Given the description of an element on the screen output the (x, y) to click on. 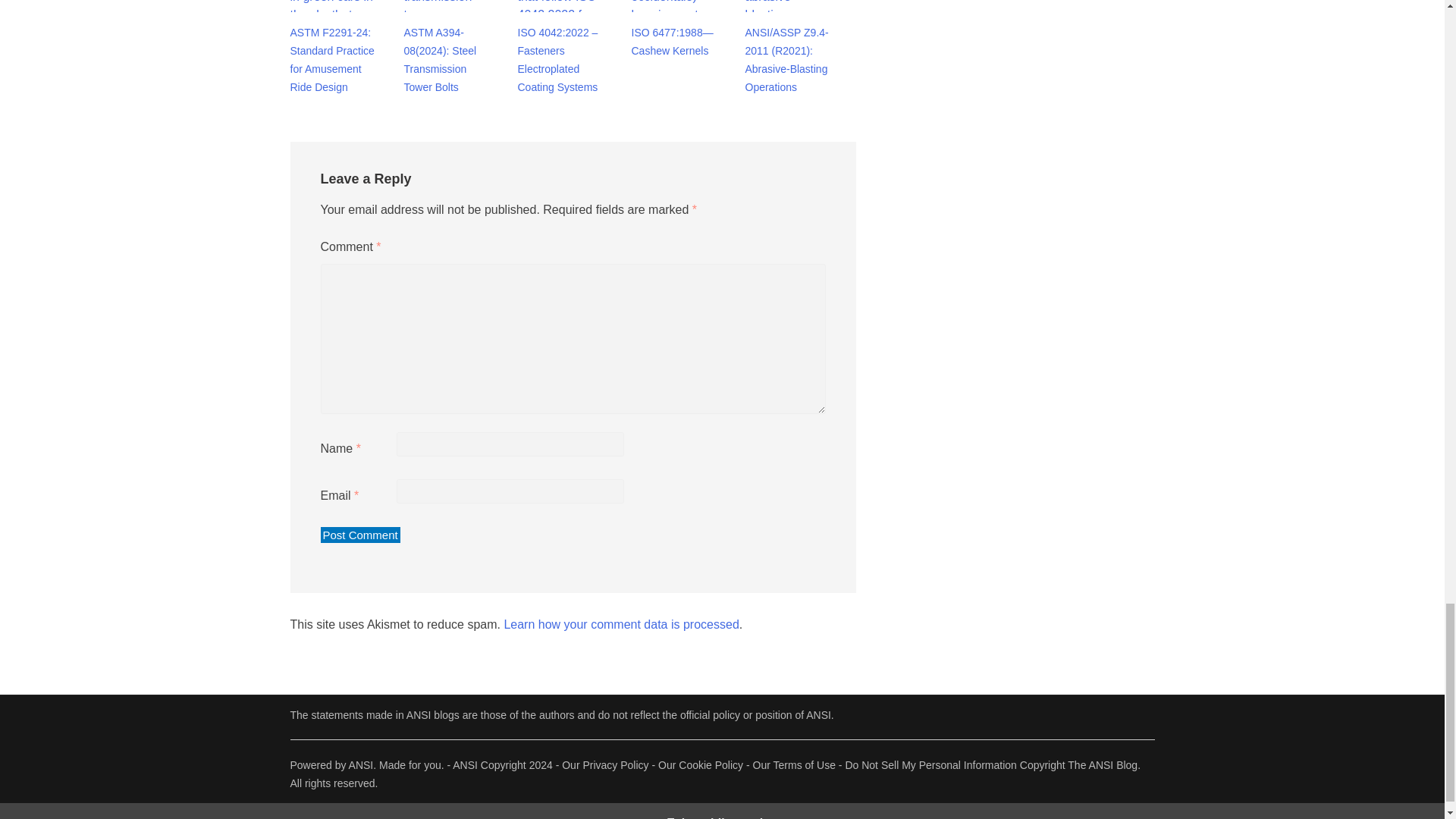
Post Comment (359, 534)
